Given the description of an element on the screen output the (x, y) to click on. 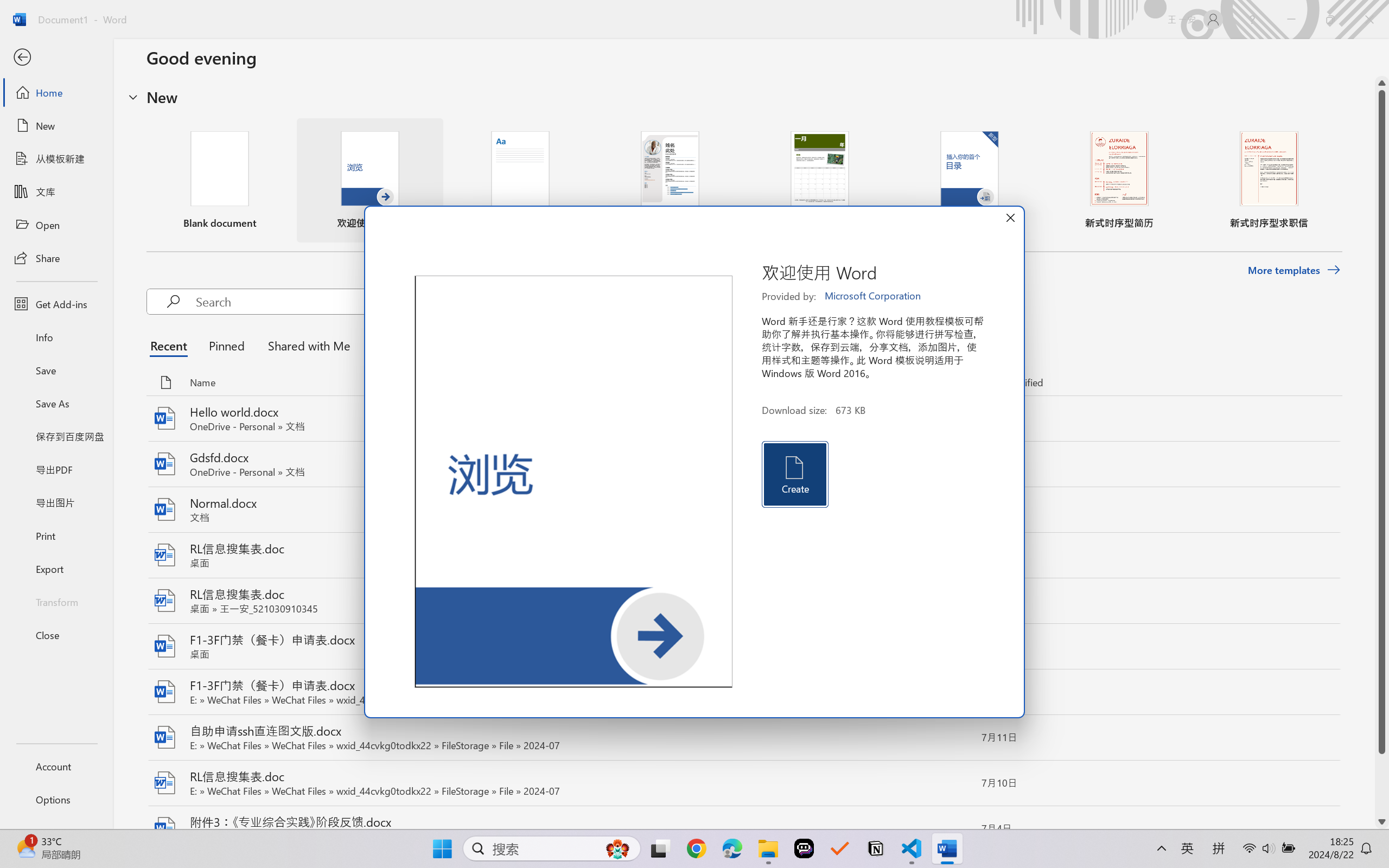
Pin this item to the list (954, 828)
Preview (573, 481)
Pinned (226, 345)
Export (56, 568)
